Given the description of an element on the screen output the (x, y) to click on. 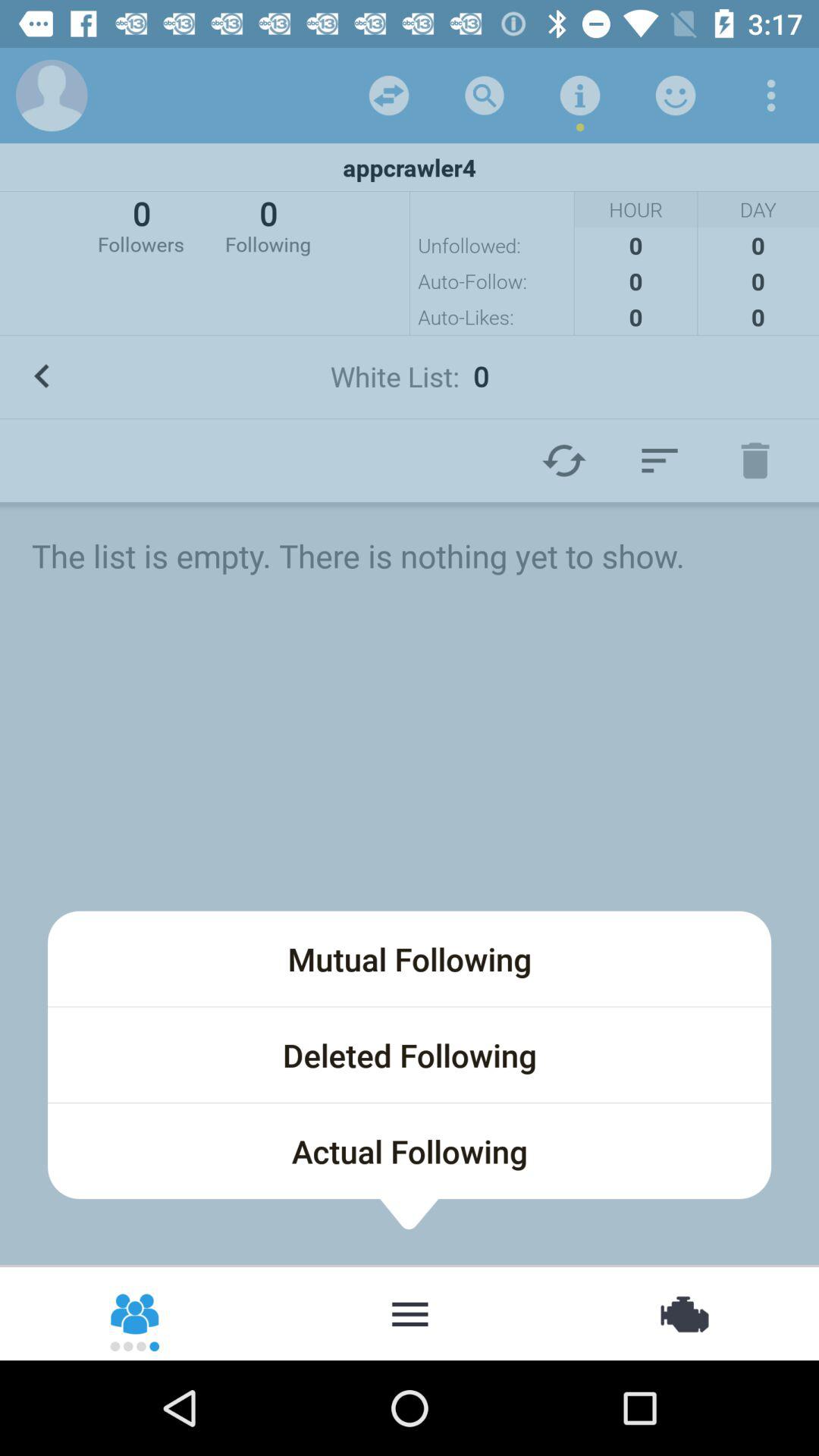
option below deleted following (409, 1150)
